Given the description of an element on the screen output the (x, y) to click on. 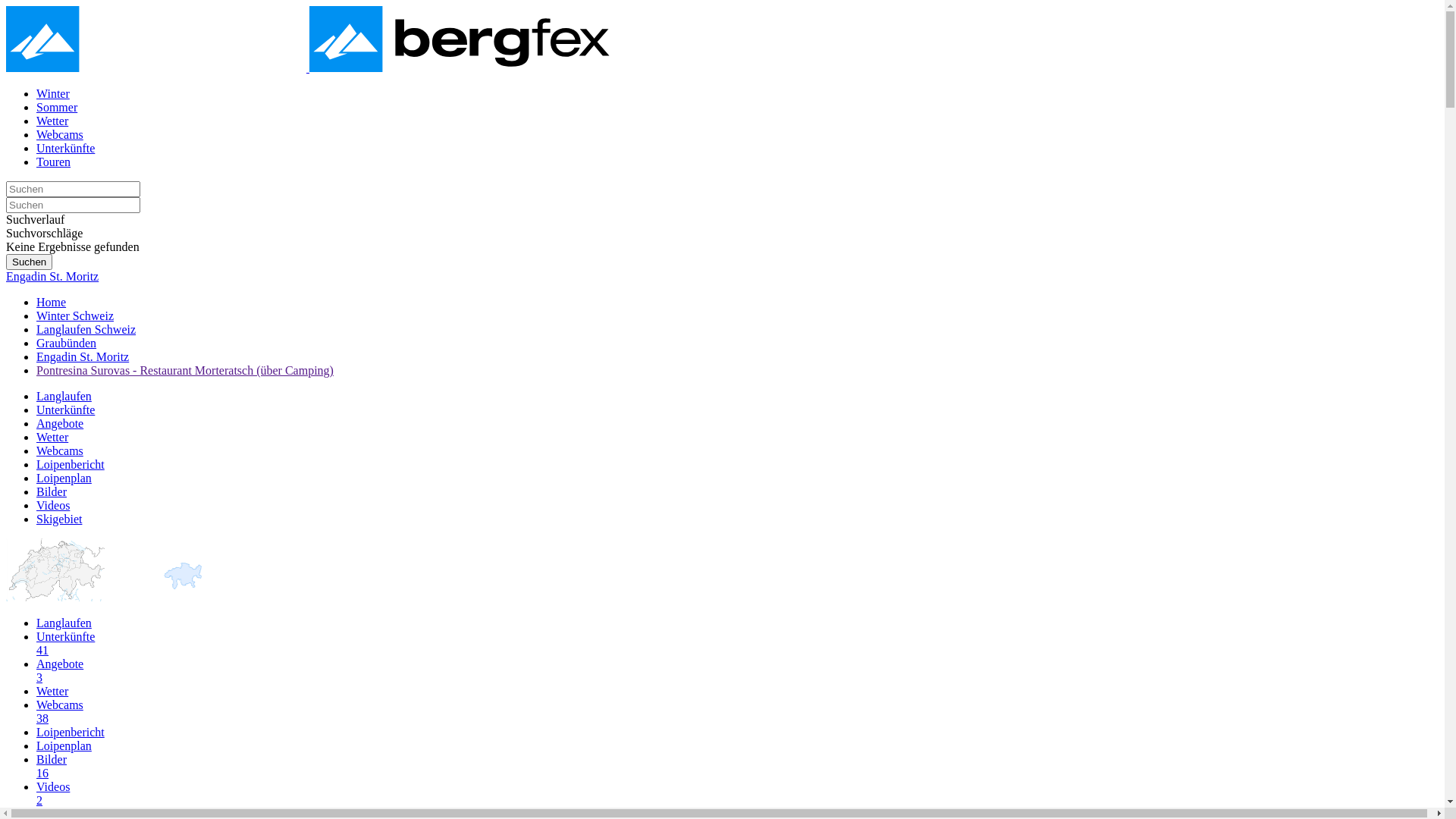
Videos
2 Element type: text (737, 793)
Engadin St. Moritz Element type: text (82, 356)
Bilder
16 Element type: text (737, 766)
Webcams Element type: text (59, 450)
Webcams
38 Element type: text (737, 711)
Loipenplan Element type: text (63, 477)
Loipenbericht Element type: text (70, 464)
Engadin St. Moritz Element type: text (52, 275)
Angebote
3 Element type: text (737, 670)
Angebote Element type: text (59, 423)
Skigebiet Element type: text (58, 518)
Wetter Element type: text (52, 690)
bergfex Homepage Element type: hover (307, 67)
Wetter Element type: text (52, 120)
Langlaufen Element type: text (63, 622)
Sommer Element type: text (56, 106)
Winter Schweiz Element type: text (74, 315)
Touren Element type: text (53, 161)
Suchen Element type: text (29, 261)
Webcams Element type: text (59, 134)
Bilder Element type: text (51, 491)
Langlaufen Element type: text (63, 395)
Loipenbericht Element type: text (70, 731)
Videos Element type: text (52, 504)
Home Element type: text (50, 301)
Langlaufen Schweiz Element type: text (85, 329)
Winter Element type: text (52, 93)
Wetter Element type: text (52, 436)
Loipenplan Element type: text (63, 745)
